Given the description of an element on the screen output the (x, y) to click on. 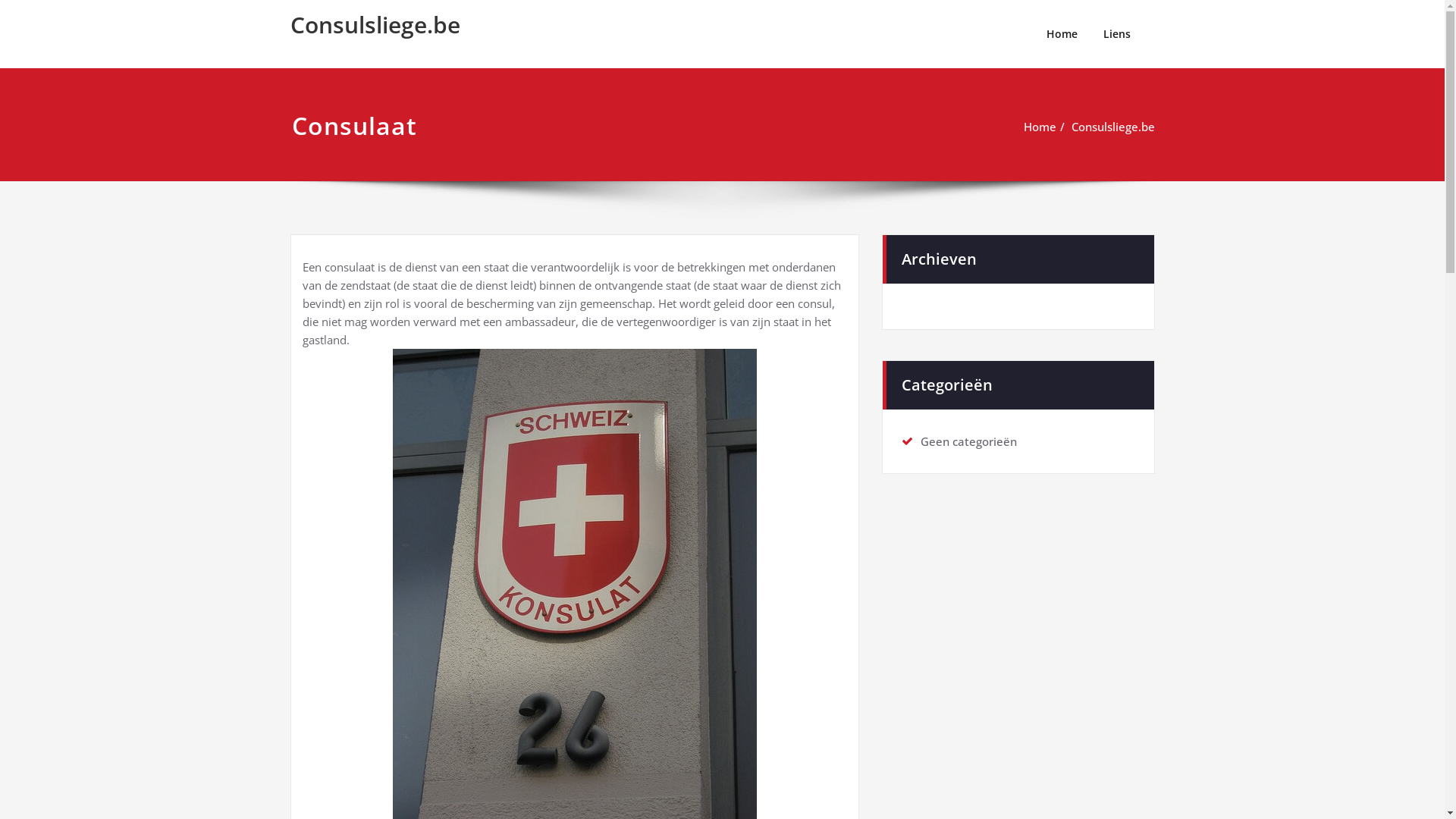
Doorgaan naar artikel Element type: text (0, 0)
Liens Element type: text (1116, 34)
Home Element type: text (1039, 126)
Consulsliege.be Element type: text (1112, 126)
Consulsliege.be Element type: text (374, 24)
Home Element type: text (1060, 34)
